Given the description of an element on the screen output the (x, y) to click on. 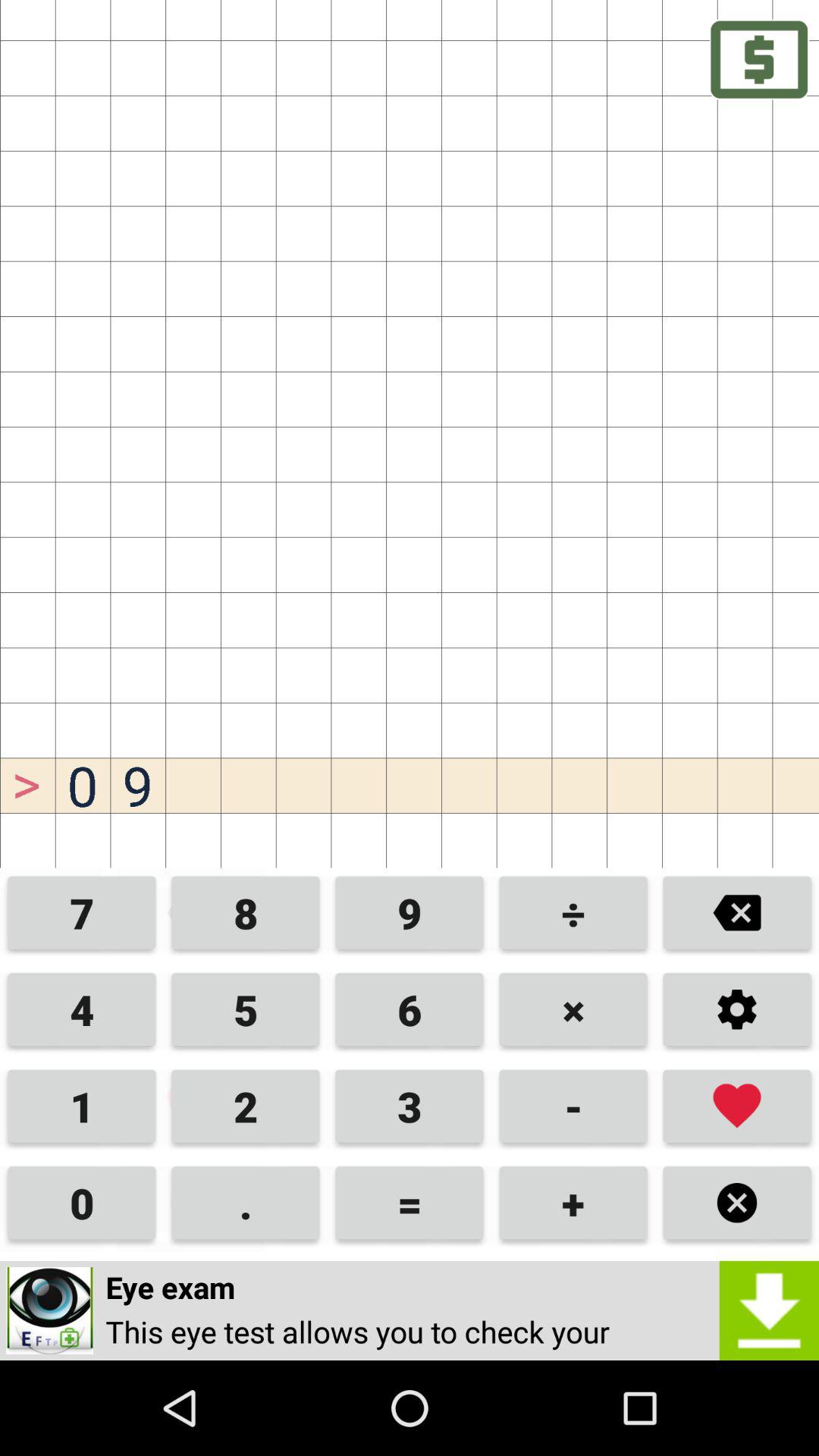
save entry (737, 1105)
